Given the description of an element on the screen output the (x, y) to click on. 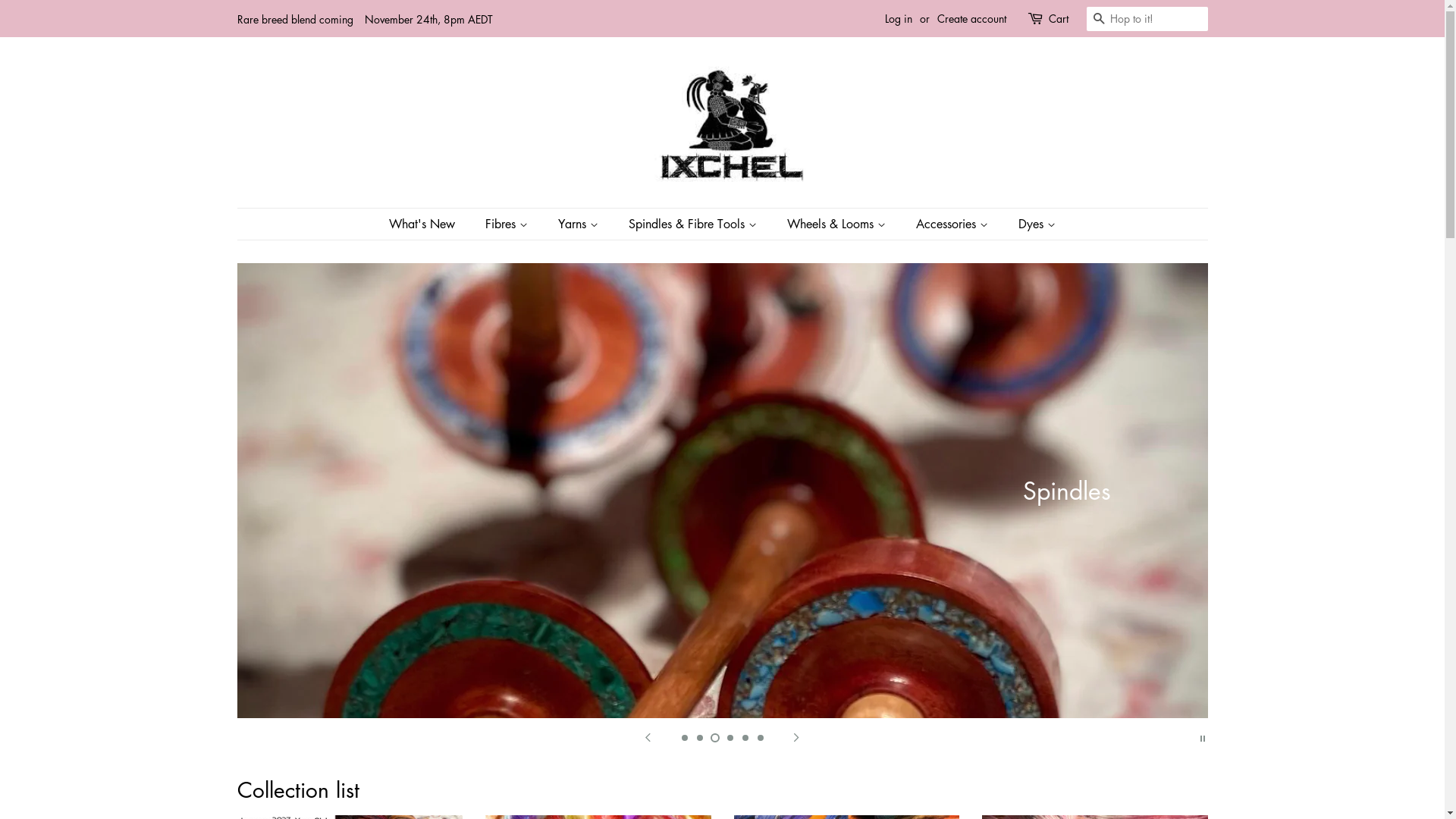
What's New Element type: text (429, 223)
Spindles & Fibre Tools Element type: text (694, 223)
Search Element type: text (1097, 18)
Fibres Element type: text (507, 223)
6 Element type: text (759, 737)
Accessories Element type: text (953, 223)
2 Element type: text (698, 737)
Cart Element type: text (1057, 18)
Dyes Element type: text (1031, 223)
Create account Element type: text (971, 17)
1 Element type: text (683, 737)
5 Element type: text (744, 737)
Yarns Element type: text (579, 223)
Wheels & Looms Element type: text (837, 223)
Log in Element type: text (897, 17)
3 Element type: text (713, 737)
4 Element type: text (729, 737)
